Given the description of an element on the screen output the (x, y) to click on. 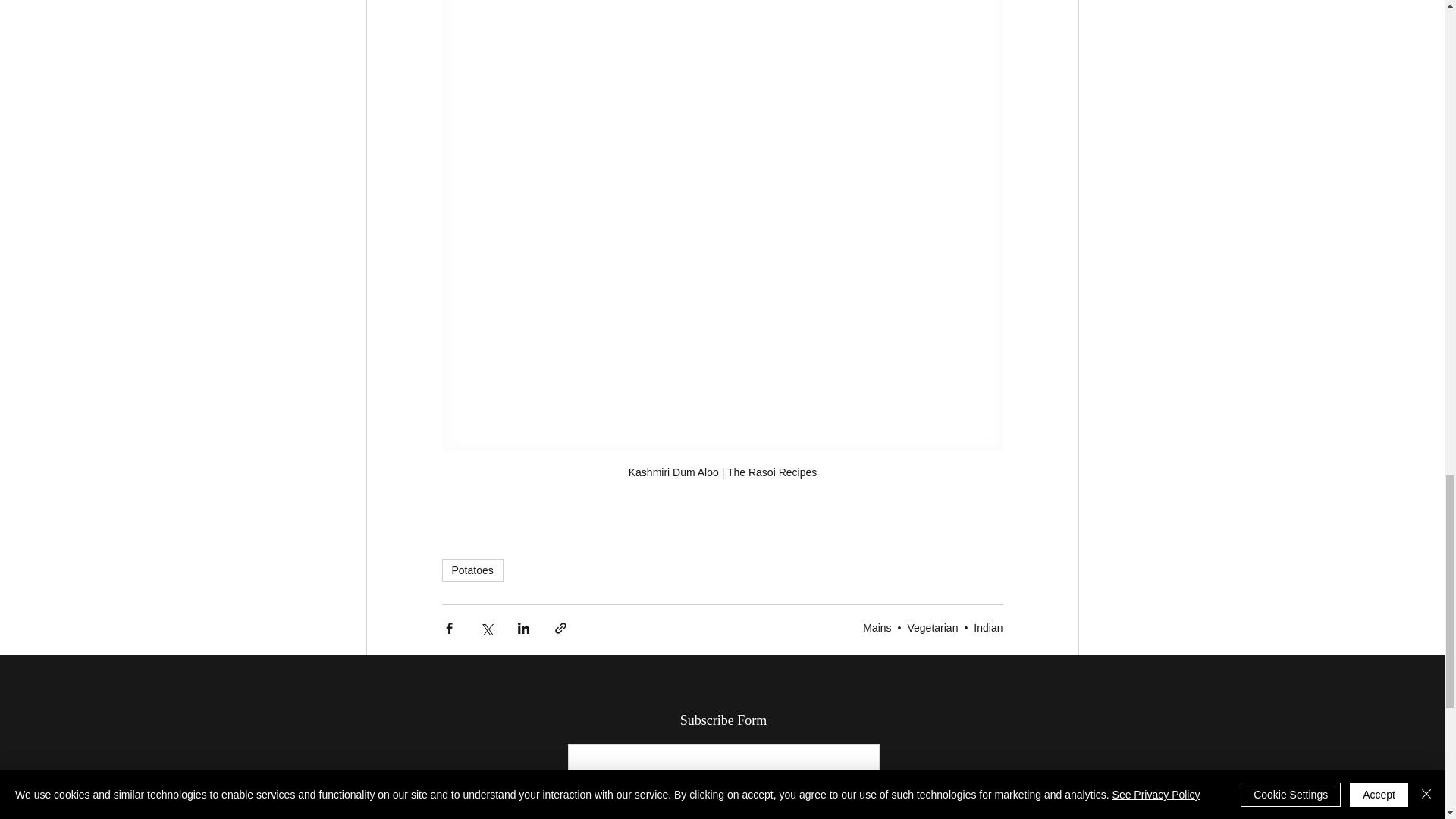
Potatoes (471, 569)
See All (1061, 725)
Vegetarian (932, 627)
Mains (877, 627)
Indian (988, 627)
